Given the description of an element on the screen output the (x, y) to click on. 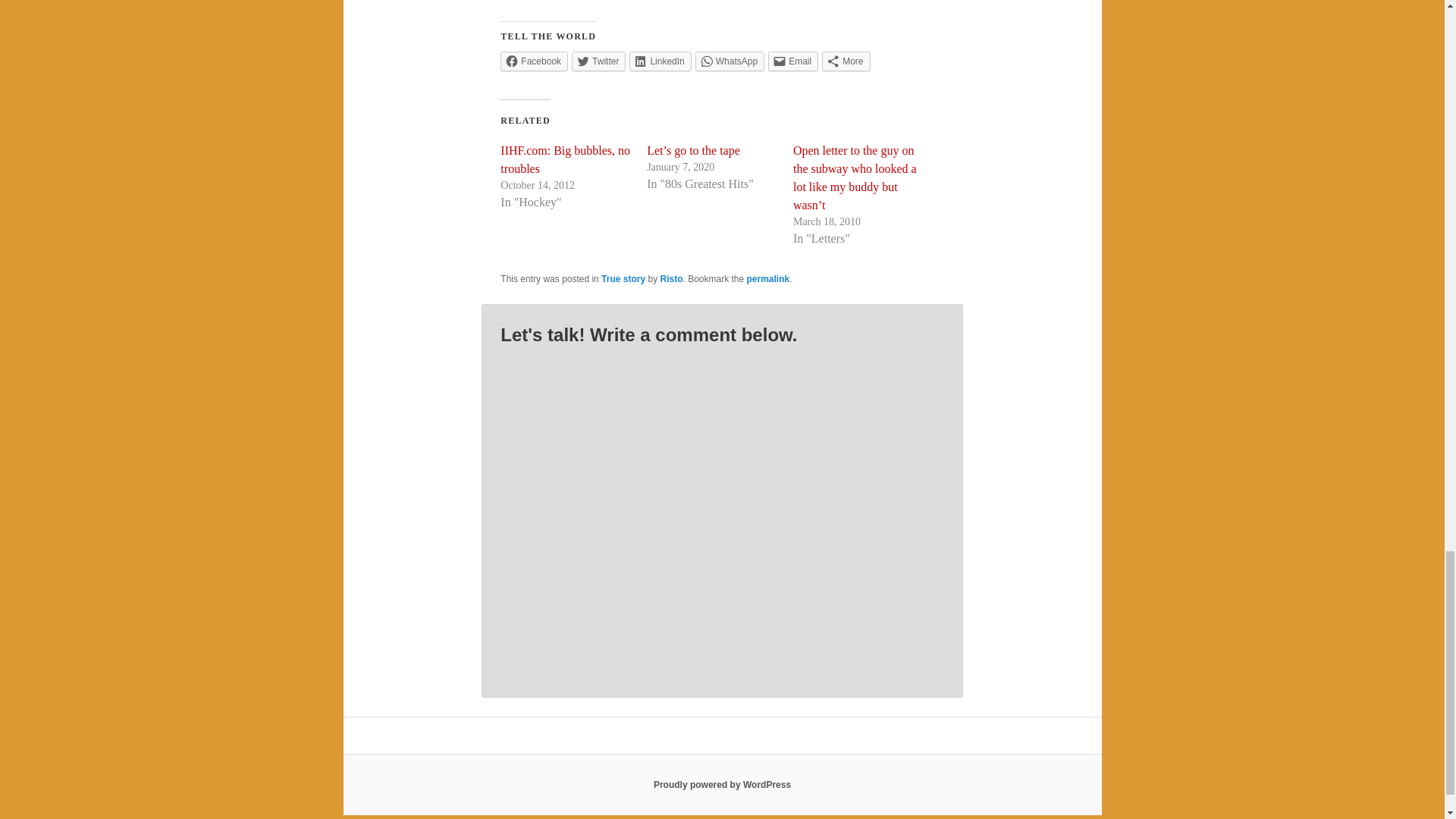
Risto (670, 278)
IIHF.com: Big bubbles, no troubles (565, 159)
Facebook (533, 61)
IIHF.com: Big bubbles, no troubles (565, 159)
WhatsApp (729, 61)
Permalink to Happy birthday, Daughter! (768, 278)
Semantic Personal Publishing Platform (721, 784)
True story (623, 278)
Click to share on Facebook (533, 61)
LinkedIn (659, 61)
